Given the description of an element on the screen output the (x, y) to click on. 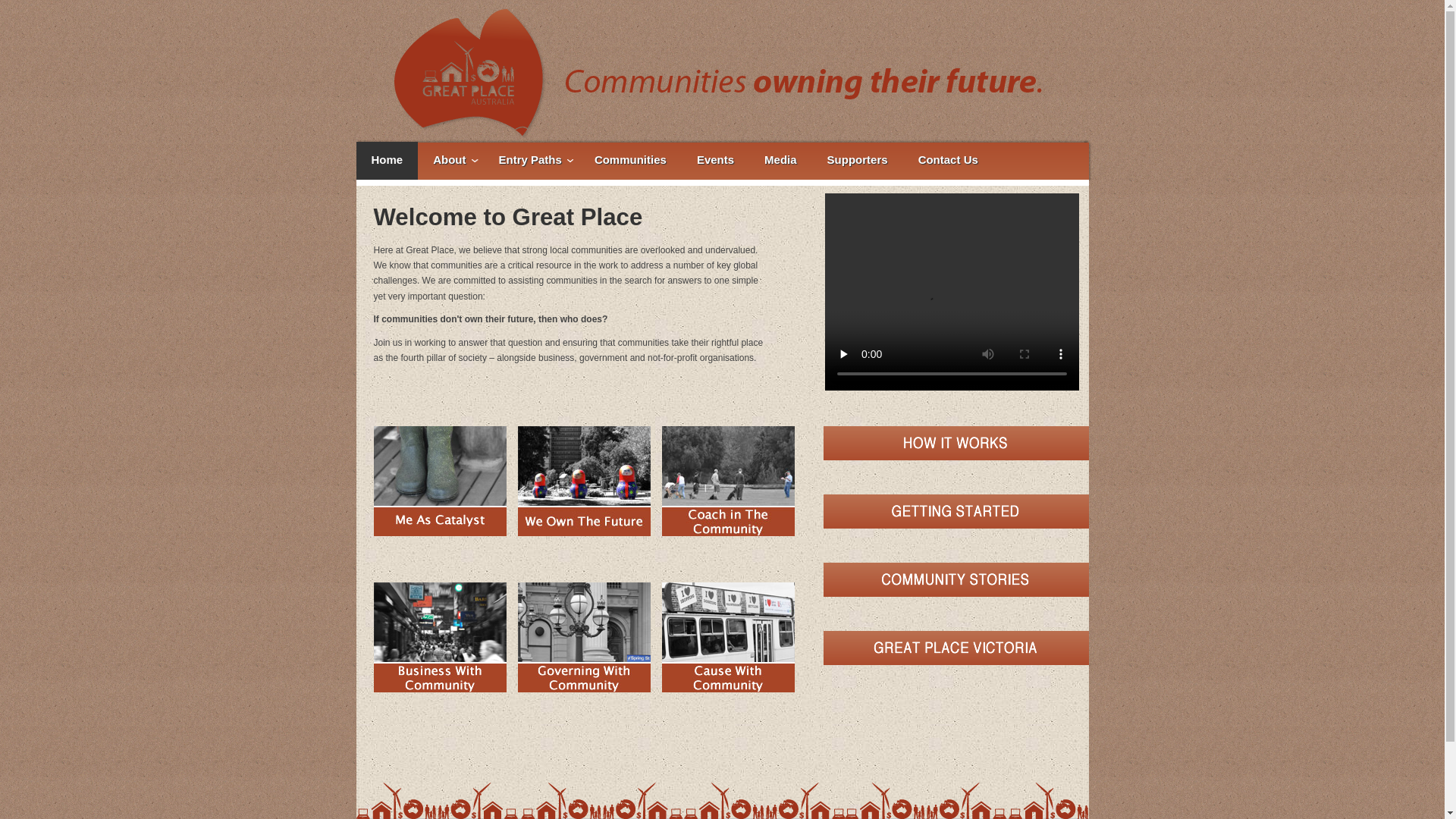
Media Element type: text (780, 160)
Communities Element type: text (630, 160)
Supporters Element type: text (857, 160)
Contact Us Element type: text (948, 160)
Home Element type: text (387, 160)
Events Element type: text (715, 160)
